Given the description of an element on the screen output the (x, y) to click on. 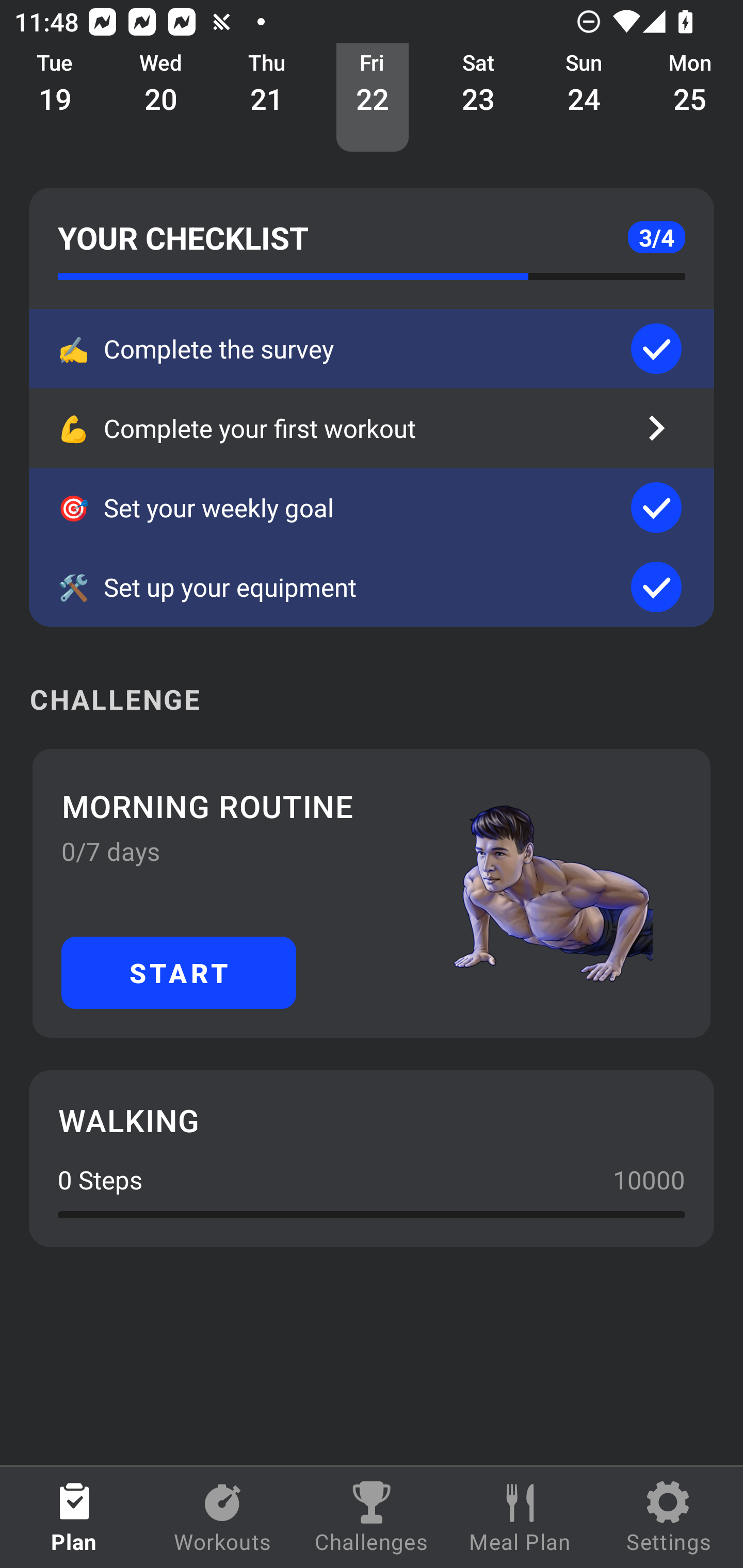
Tue 19 (55, 97)
Wed 20 (160, 97)
Thu 21 (266, 97)
Fri 22 (372, 97)
Sat 23 (478, 97)
Sun 24 (584, 97)
Mon 25 (690, 97)
💪 Complete your first workout (371, 427)
MORNING ROUTINE 0/7 days START (371, 892)
START (178, 972)
WALKING 0 Steps 10000 0.0 (371, 1158)
 Workouts  (222, 1517)
 Challenges  (371, 1517)
 Meal Plan  (519, 1517)
 Settings  (668, 1517)
